Given the description of an element on the screen output the (x, y) to click on. 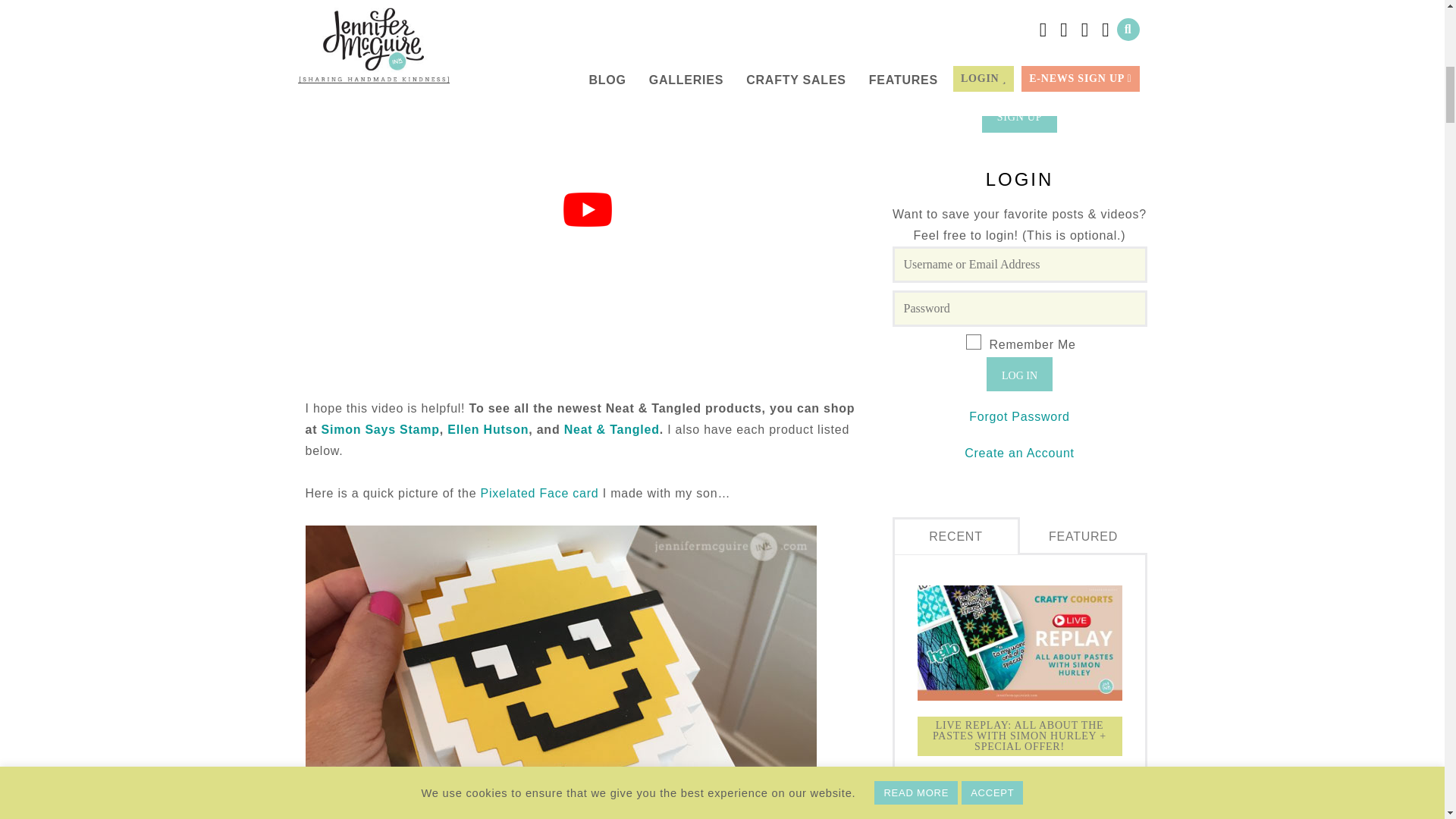
forever (973, 341)
Log In (1019, 374)
